Given the description of an element on the screen output the (x, y) to click on. 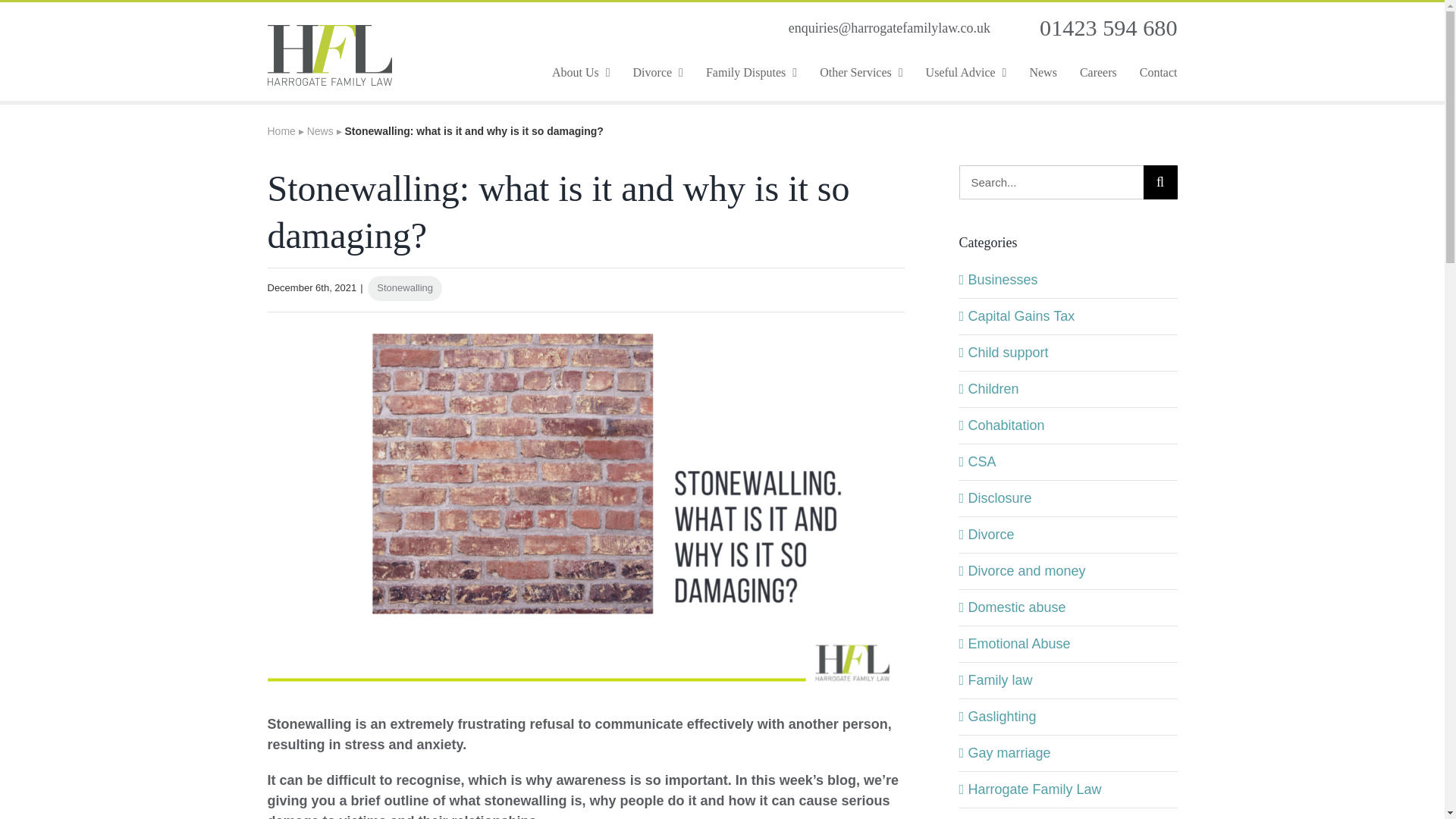
Useful Advice (966, 72)
Family Disputes (751, 72)
01423 594 680 (1107, 27)
Other Services (860, 72)
About Us (580, 72)
